Given the description of an element on the screen output the (x, y) to click on. 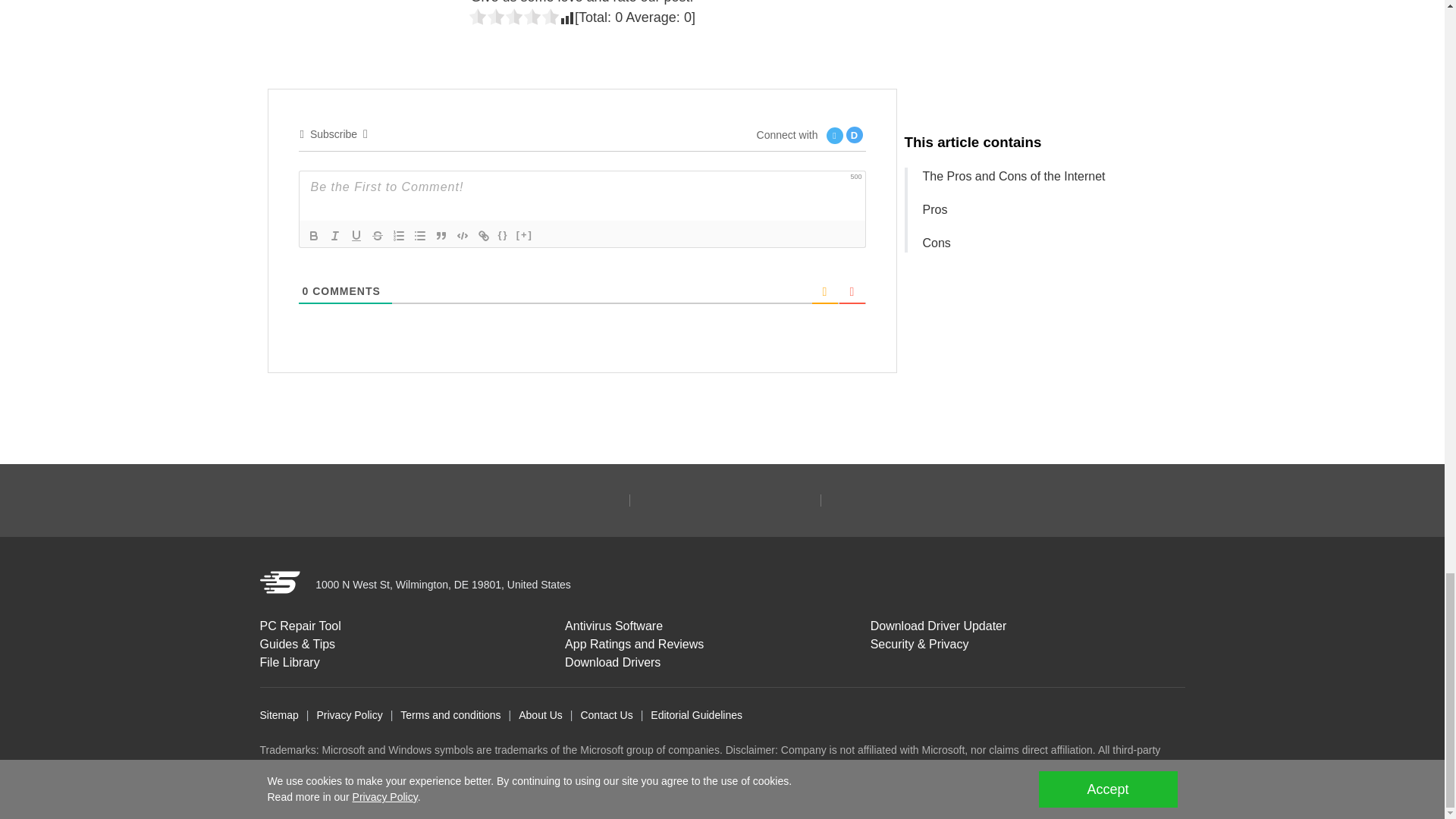
Italic (335, 235)
Source Code (503, 235)
Strike (377, 235)
Code Block (462, 235)
Spoiler (524, 235)
Link (484, 235)
Underline (356, 235)
Blockquote (440, 235)
Ordered List (398, 235)
Bold (313, 235)
